Given the description of an element on the screen output the (x, y) to click on. 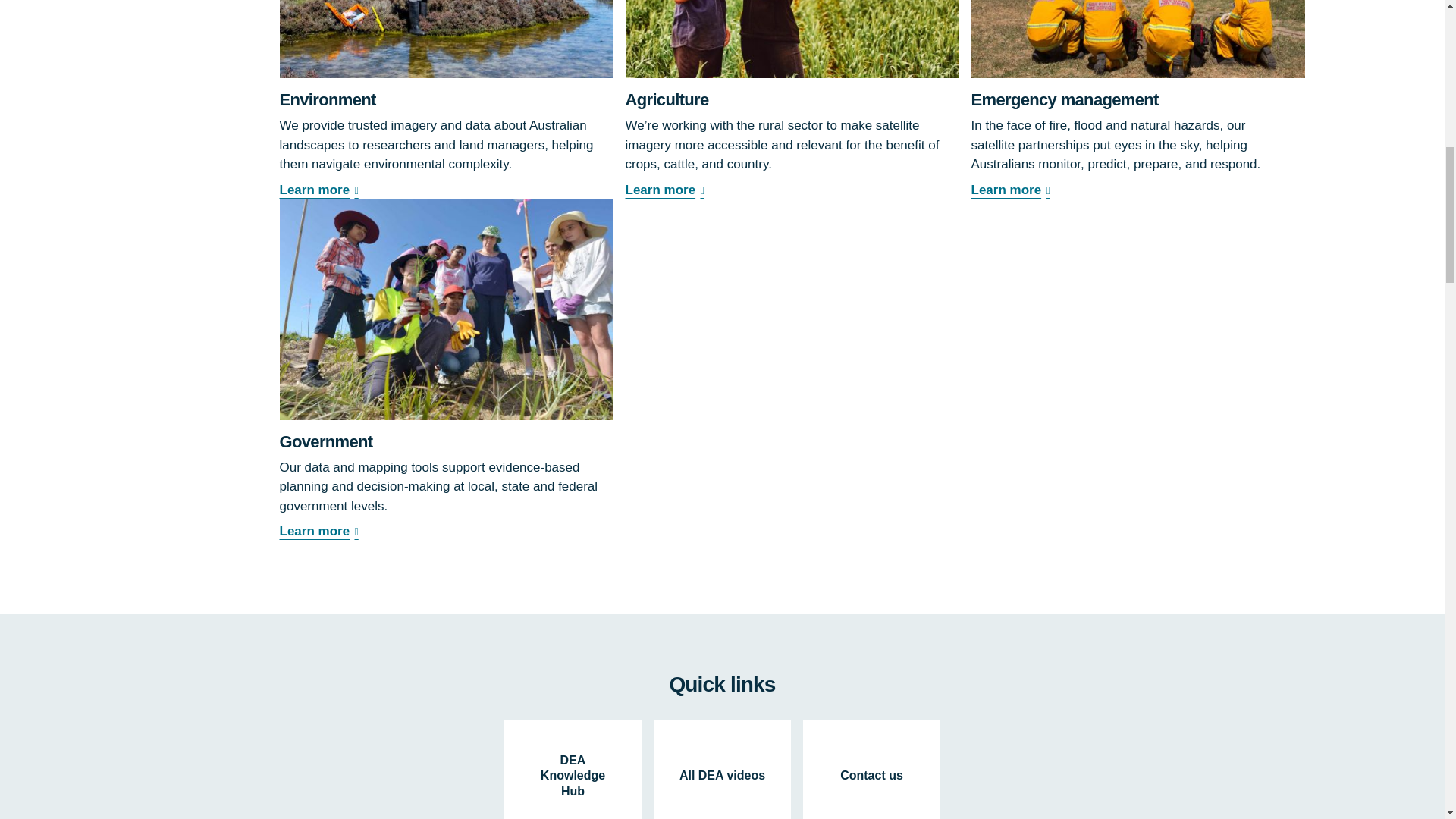
Learn more (445, 189)
Contact us (871, 769)
Learn more (1137, 189)
All DEA videos (721, 769)
Learn more (445, 531)
DEA Knowledge Hub (572, 769)
Learn more (791, 189)
